Given the description of an element on the screen output the (x, y) to click on. 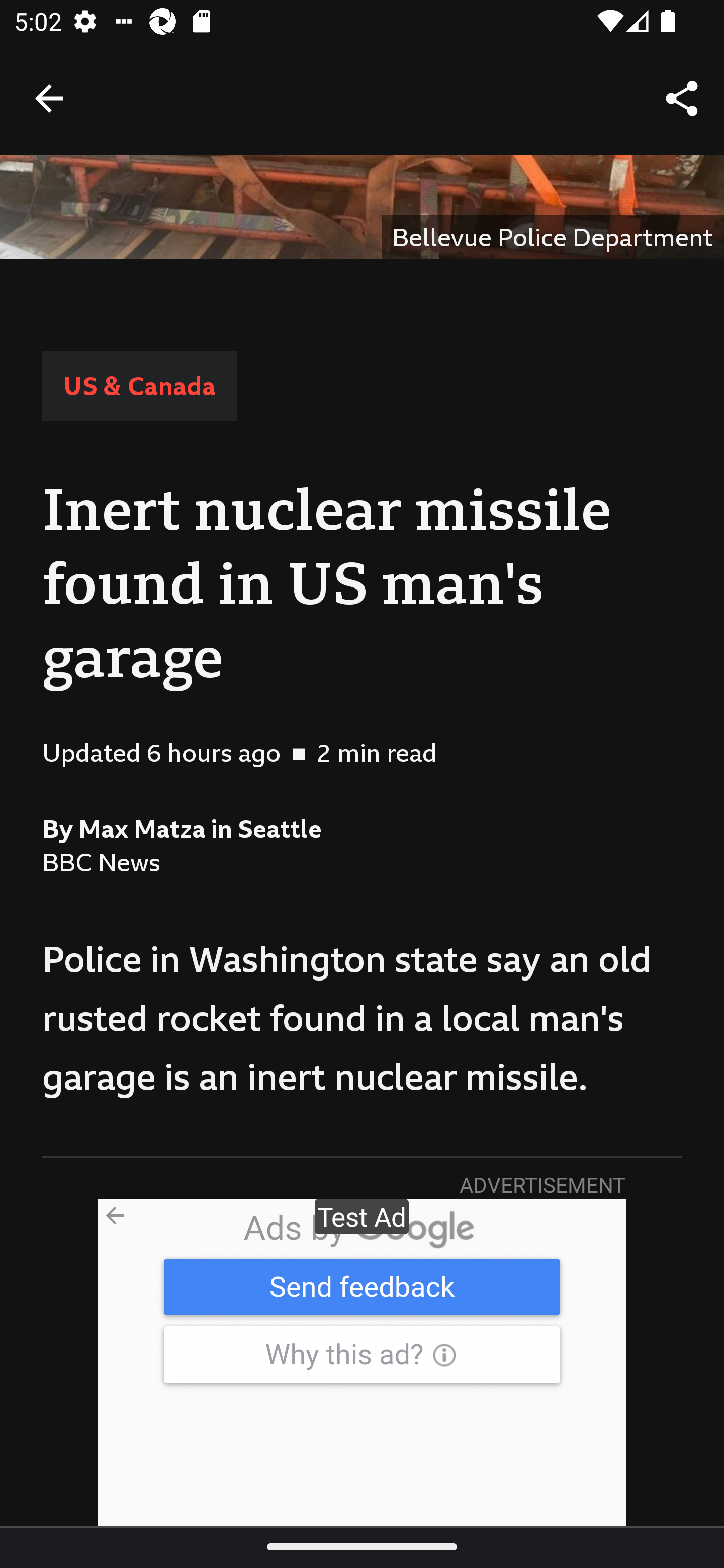
Back (49, 97)
Share (681, 98)
An officer near the rusty rocket (362, 206)
US & Canada (138, 385)
